Given the description of an element on the screen output the (x, y) to click on. 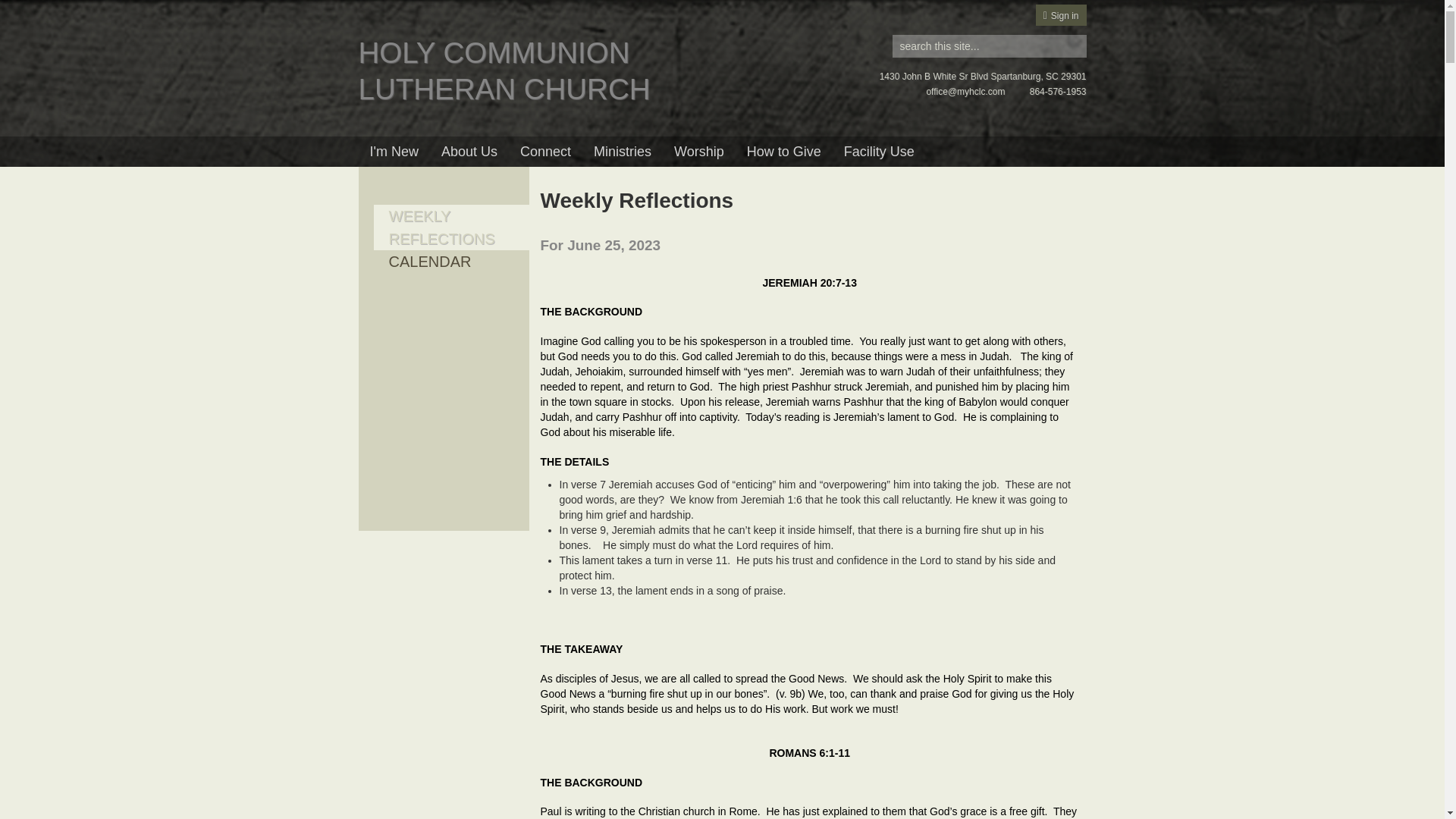
Sign in (1062, 15)
RSS Feed (1049, 192)
CALENDAR (429, 261)
How to Give (783, 151)
1430 John B White Sr Blvd Spartanburg, SC 29301 (982, 76)
For June 25, 2023 (600, 245)
Worship (698, 151)
Facility Use (879, 151)
